Given the description of an element on the screen output the (x, y) to click on. 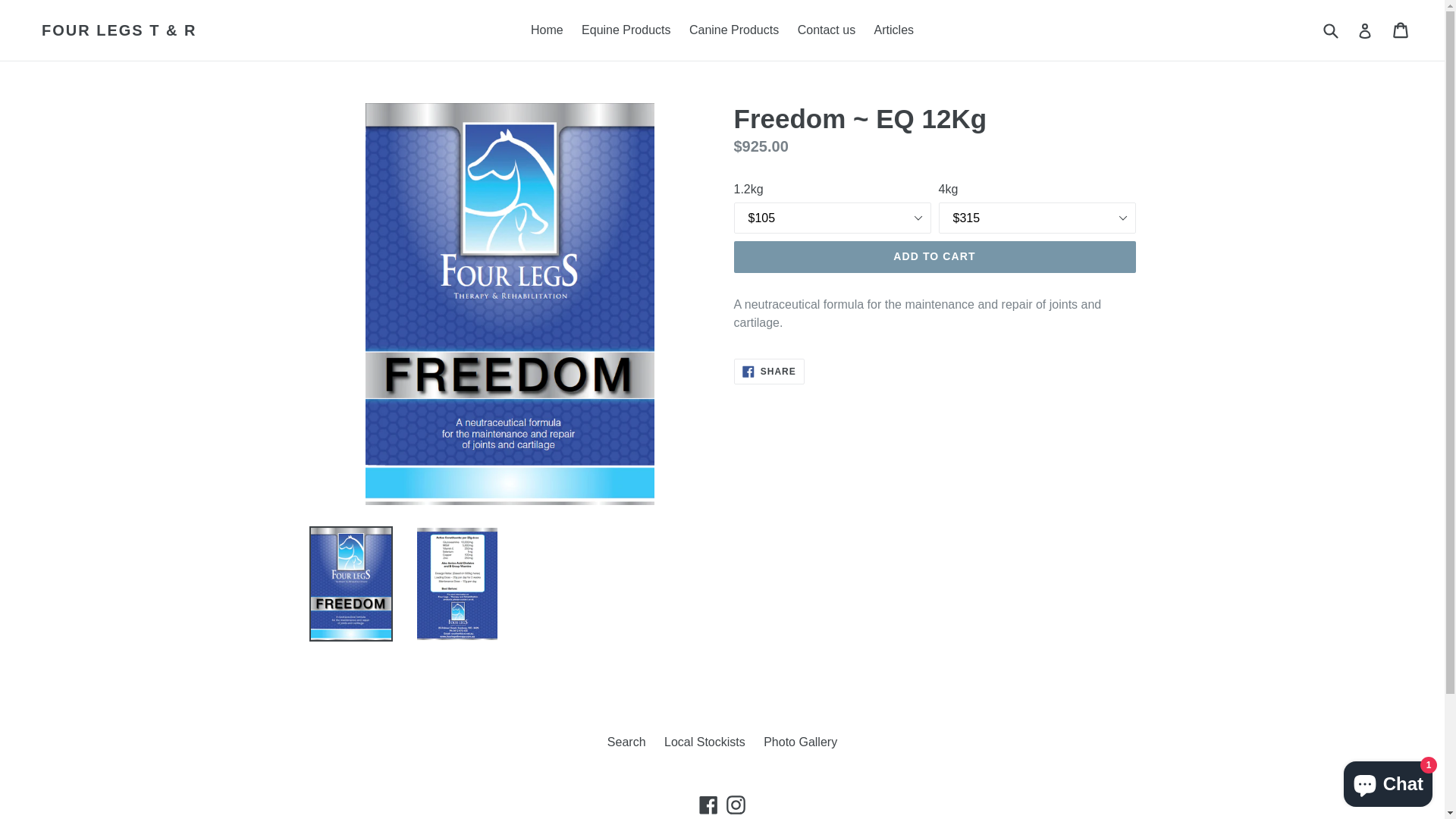
Search Element type: text (626, 741)
Photo Gallery Element type: text (800, 741)
ADD TO CART Element type: text (934, 257)
Canine Products Element type: text (733, 29)
Shopify online store chat Element type: hover (1388, 780)
Contact us Element type: text (826, 29)
Equine Products Element type: text (625, 29)
Log in Element type: text (1364, 30)
Articles Element type: text (893, 29)
Facebook Element type: text (708, 804)
Local Stockists Element type: text (704, 741)
FOUR LEGS T & R Element type: text (118, 30)
Instagram Element type: text (735, 804)
Cart
Cart Element type: text (1401, 29)
SHARE
SHARE ON FACEBOOK Element type: text (769, 371)
Home Element type: text (547, 29)
Submit Element type: text (1329, 29)
